Given the description of an element on the screen output the (x, y) to click on. 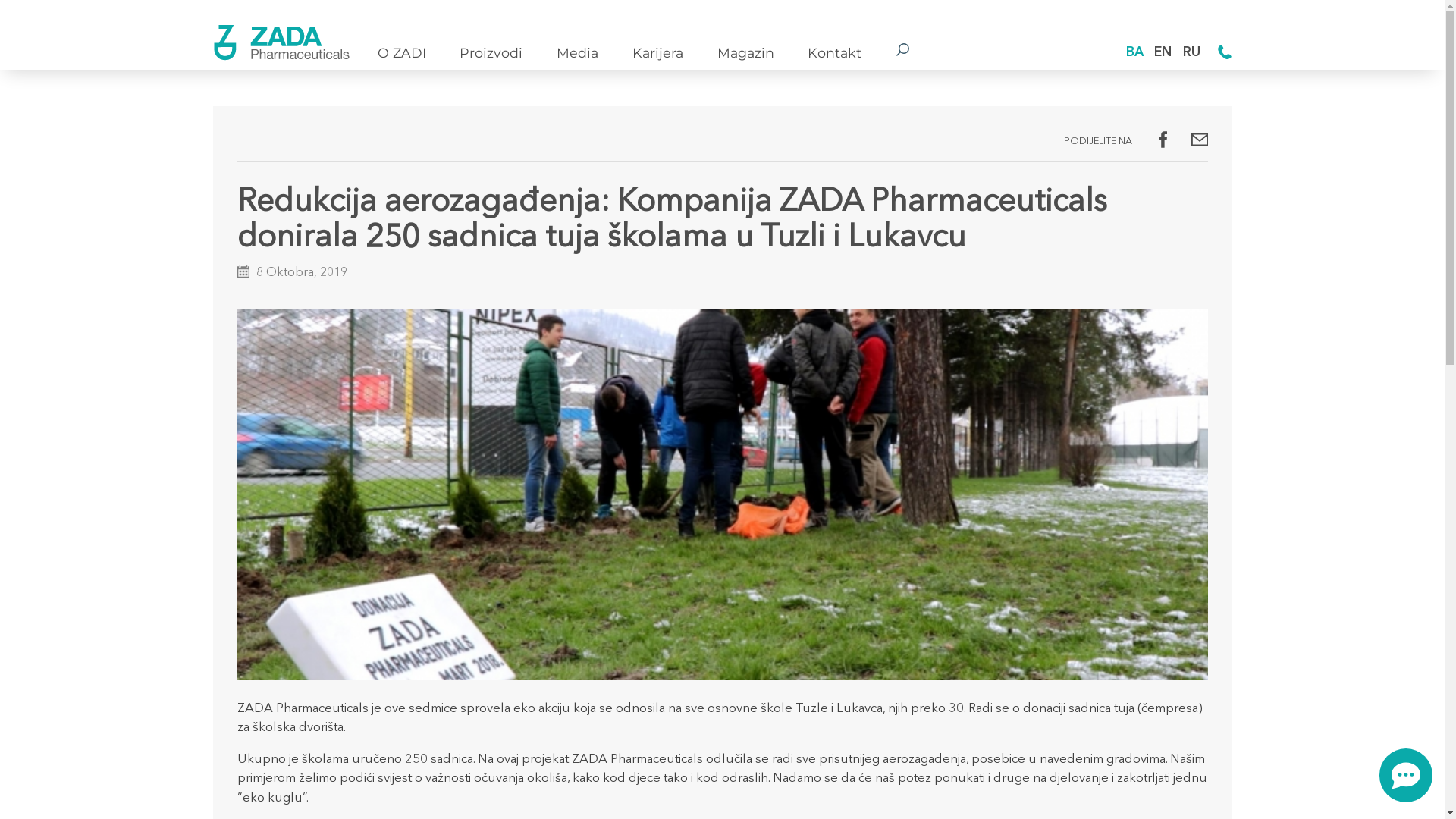
Magazin Element type: text (745, 52)
BA Element type: text (1134, 52)
Proizvodi Element type: text (490, 52)
Media Element type: text (577, 52)
EN Element type: text (1162, 52)
Kontakt Element type: text (834, 52)
RU Element type: text (1191, 52)
O ZADI Element type: text (401, 52)
Karijera Element type: text (657, 52)
